Given the description of an element on the screen output the (x, y) to click on. 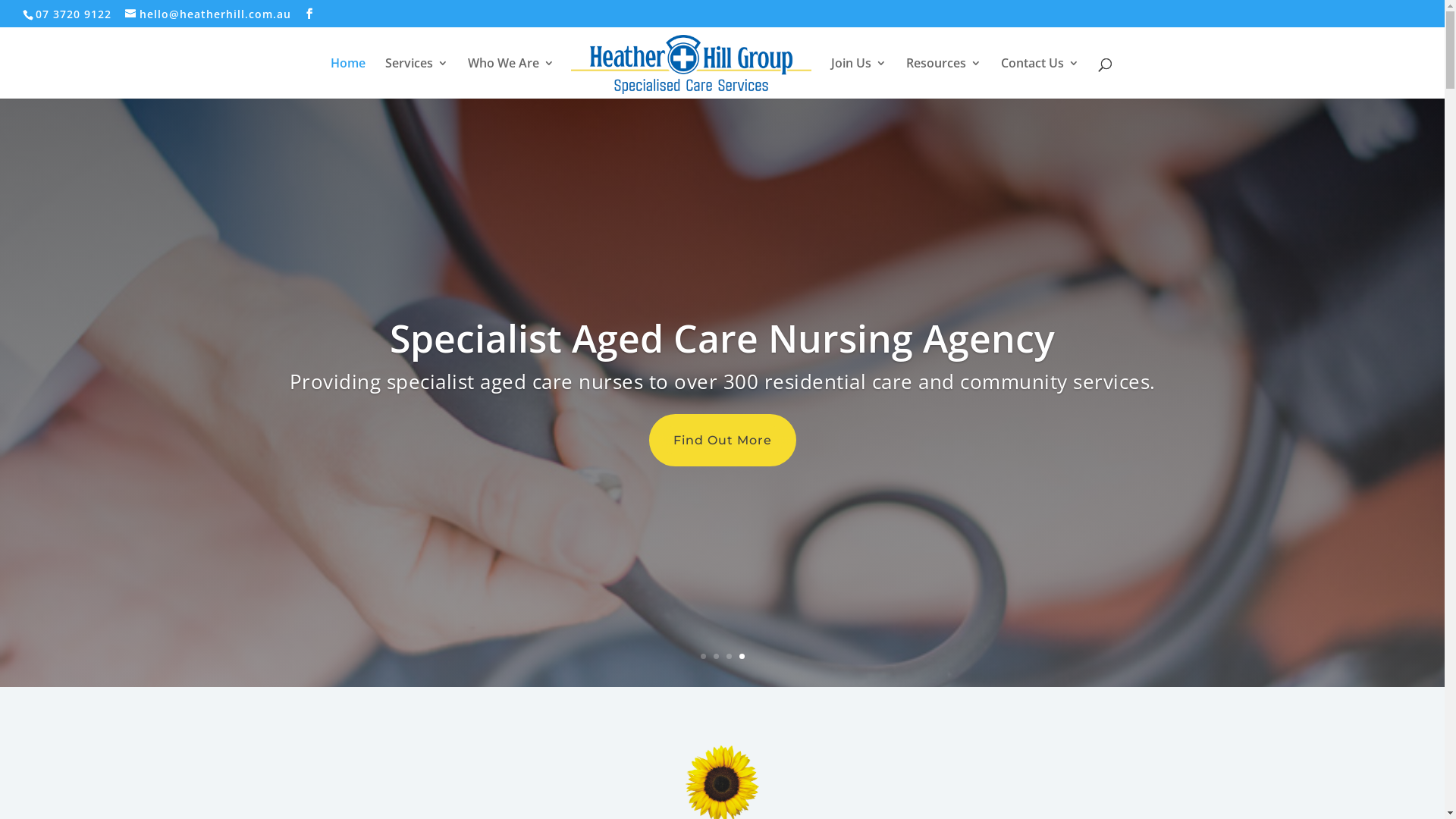
Services Element type: text (416, 77)
2 Element type: text (715, 655)
3 Element type: text (728, 655)
hello@heatherhill.com.au Element type: text (208, 13)
1 Element type: text (703, 655)
Contact Us Element type: text (1040, 77)
Resources Element type: text (943, 77)
Who We Are Element type: text (510, 77)
4 Element type: text (740, 655)
Find Out More Element type: text (722, 440)
07 3720 9122 Element type: text (75, 13)
Join Us Element type: text (858, 77)
Specialist Aged Care Nursing Agency Element type: text (721, 338)
Home Element type: text (347, 77)
